Given the description of an element on the screen output the (x, y) to click on. 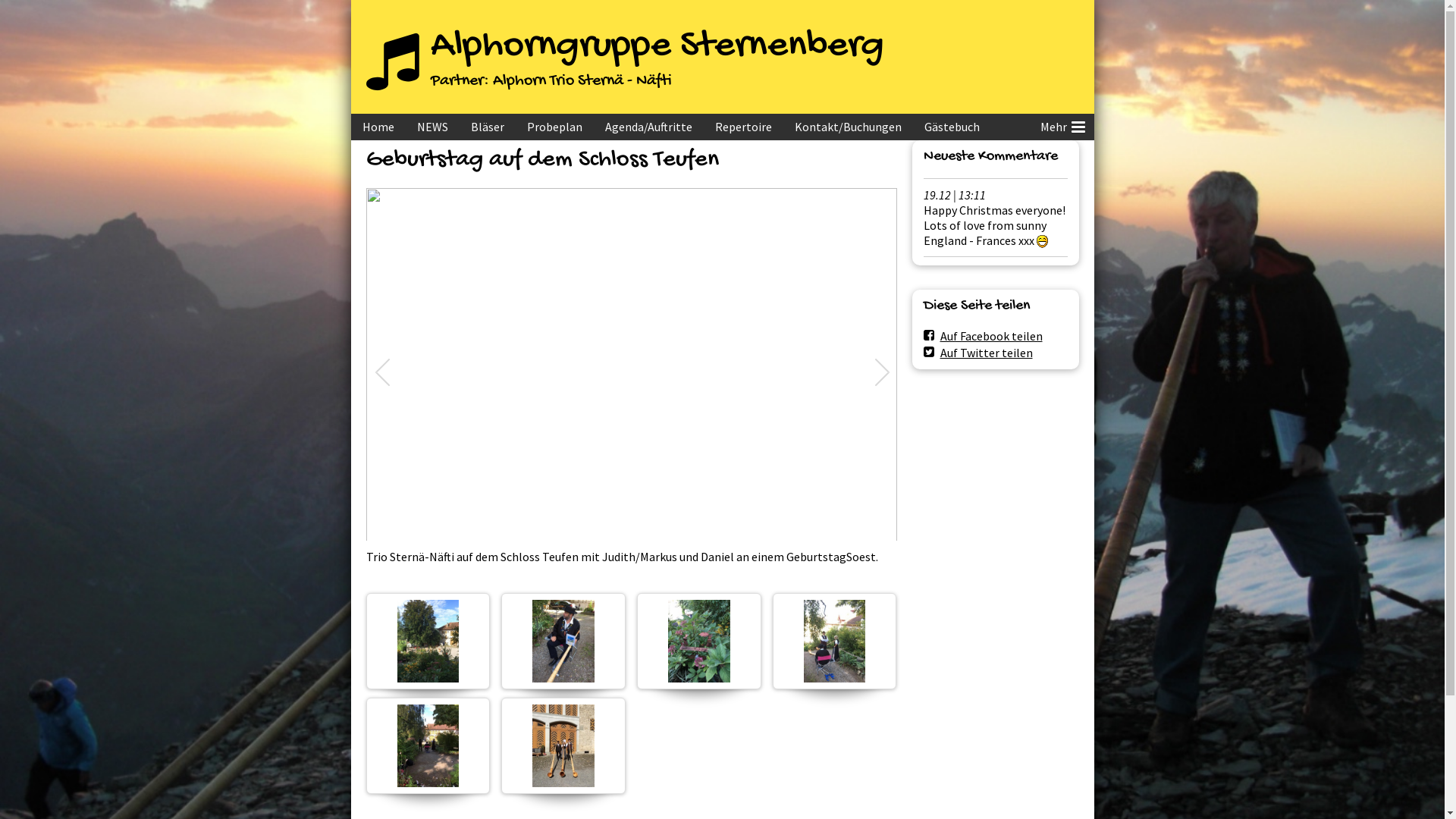
Alphorngruppe Sternenberg Element type: text (657, 46)
Kontakt/Buchungen Element type: text (847, 126)
Auf Twitter teilen Element type: text (977, 352)
NEWS Element type: text (431, 126)
Home Element type: text (377, 126)
Repertoire Element type: text (743, 126)
Auf Facebook teilen Element type: text (982, 335)
Probeplan Element type: text (554, 126)
Agenda/Auftritte Element type: text (647, 126)
Mehr Element type: text (1060, 126)
